Given the description of an element on the screen output the (x, y) to click on. 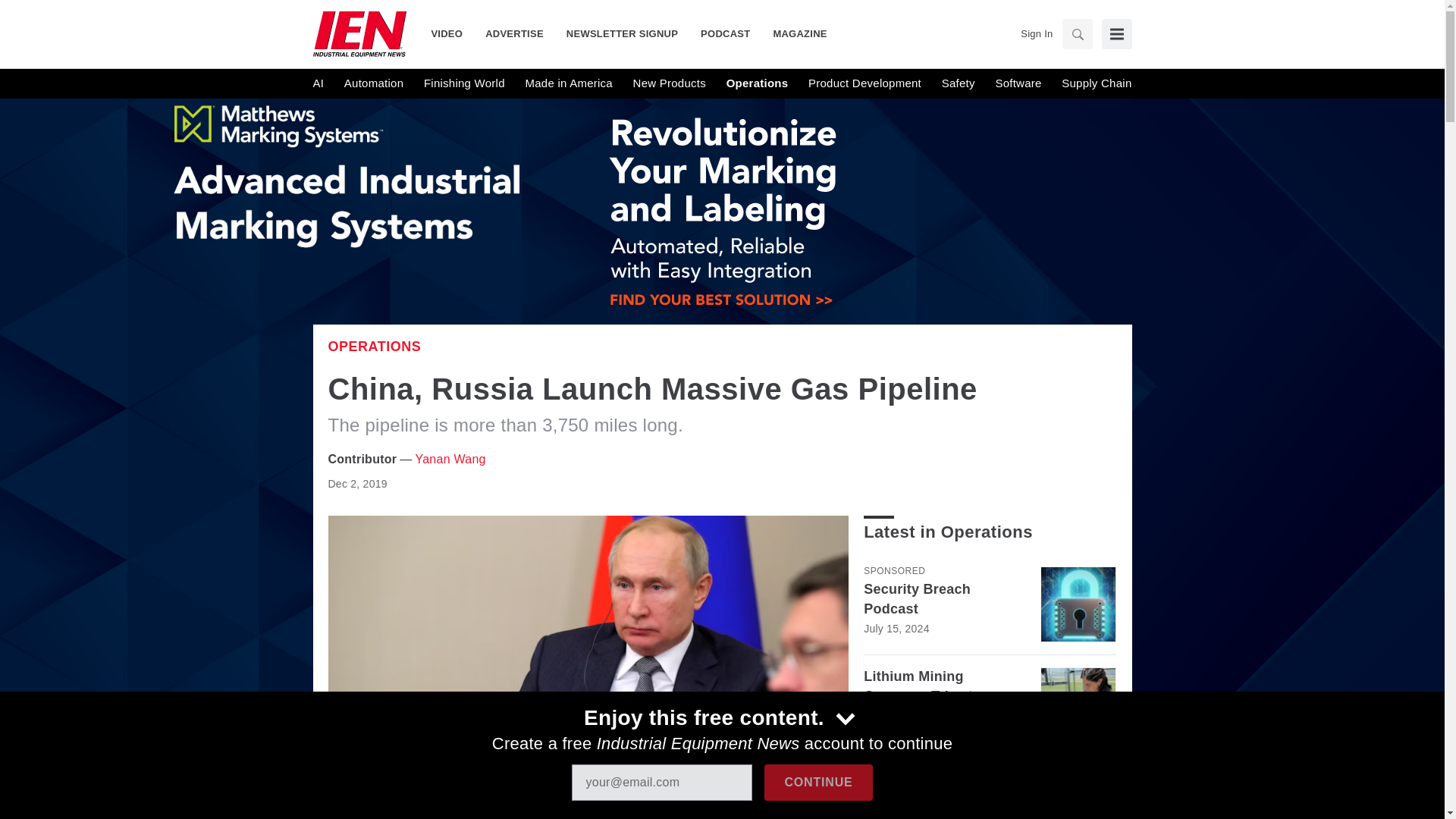
Made in America (567, 83)
NEWSLETTER SIGNUP (621, 33)
Safety (958, 83)
Software (1017, 83)
VIDEO (452, 33)
Sign In (1036, 33)
PODCAST (724, 33)
ADVERTISE (514, 33)
Product Development (864, 83)
Operations (373, 345)
MAGAZINE (794, 33)
Finishing World (464, 83)
Supply Chain (1096, 83)
Automation (373, 83)
